Given the description of an element on the screen output the (x, y) to click on. 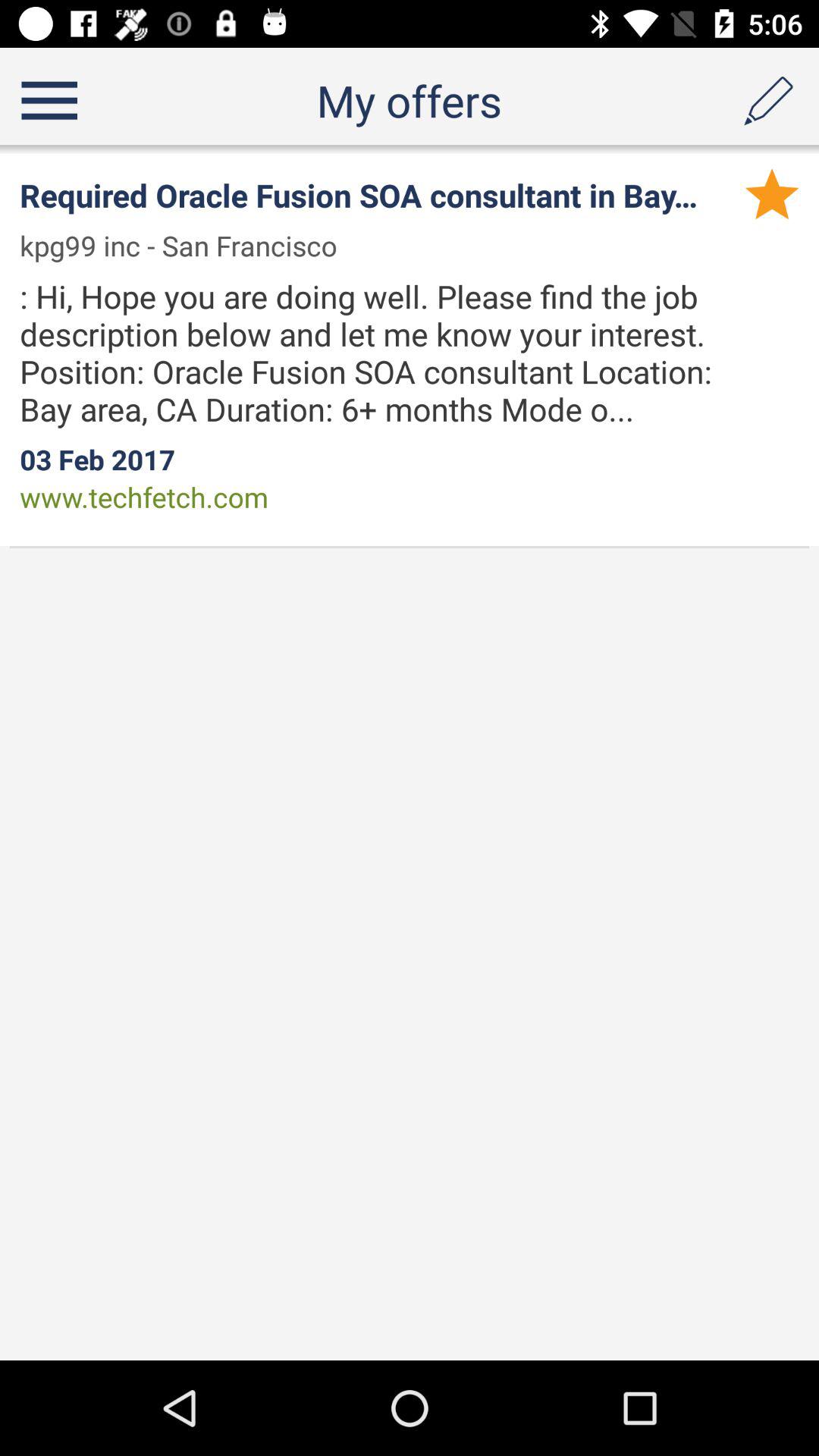
click item below the a (772, 193)
